Given the description of an element on the screen output the (x, y) to click on. 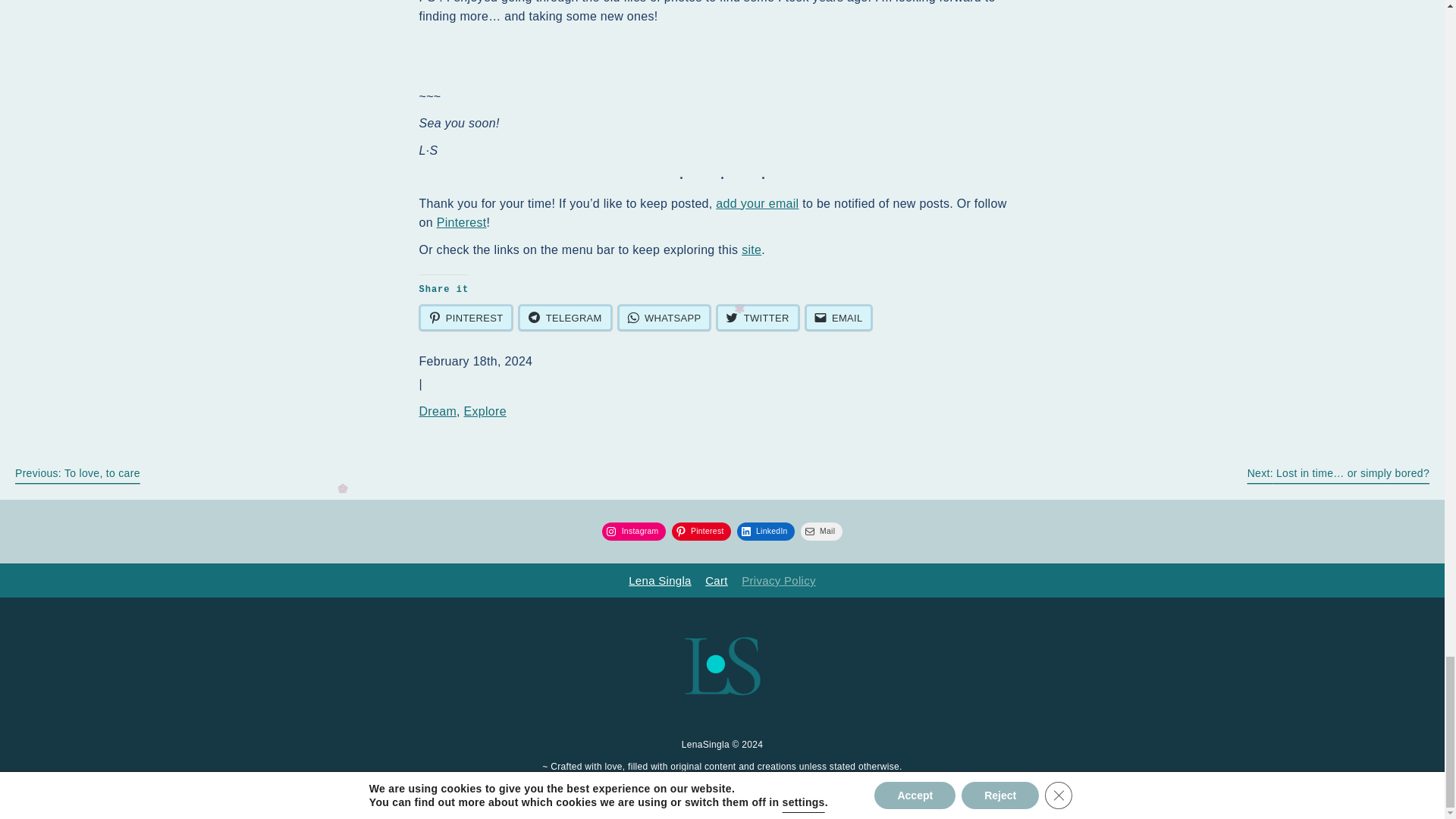
Click to share on Twitter (756, 317)
Click to share on Pinterest (465, 317)
Email LS (722, 810)
Explore (485, 410)
Lena Singla (659, 580)
Previous: To love, to care (76, 472)
TWITTER (756, 317)
LinkedIn (765, 531)
Dream (438, 410)
Privacy Policy (778, 580)
